Given the description of an element on the screen output the (x, y) to click on. 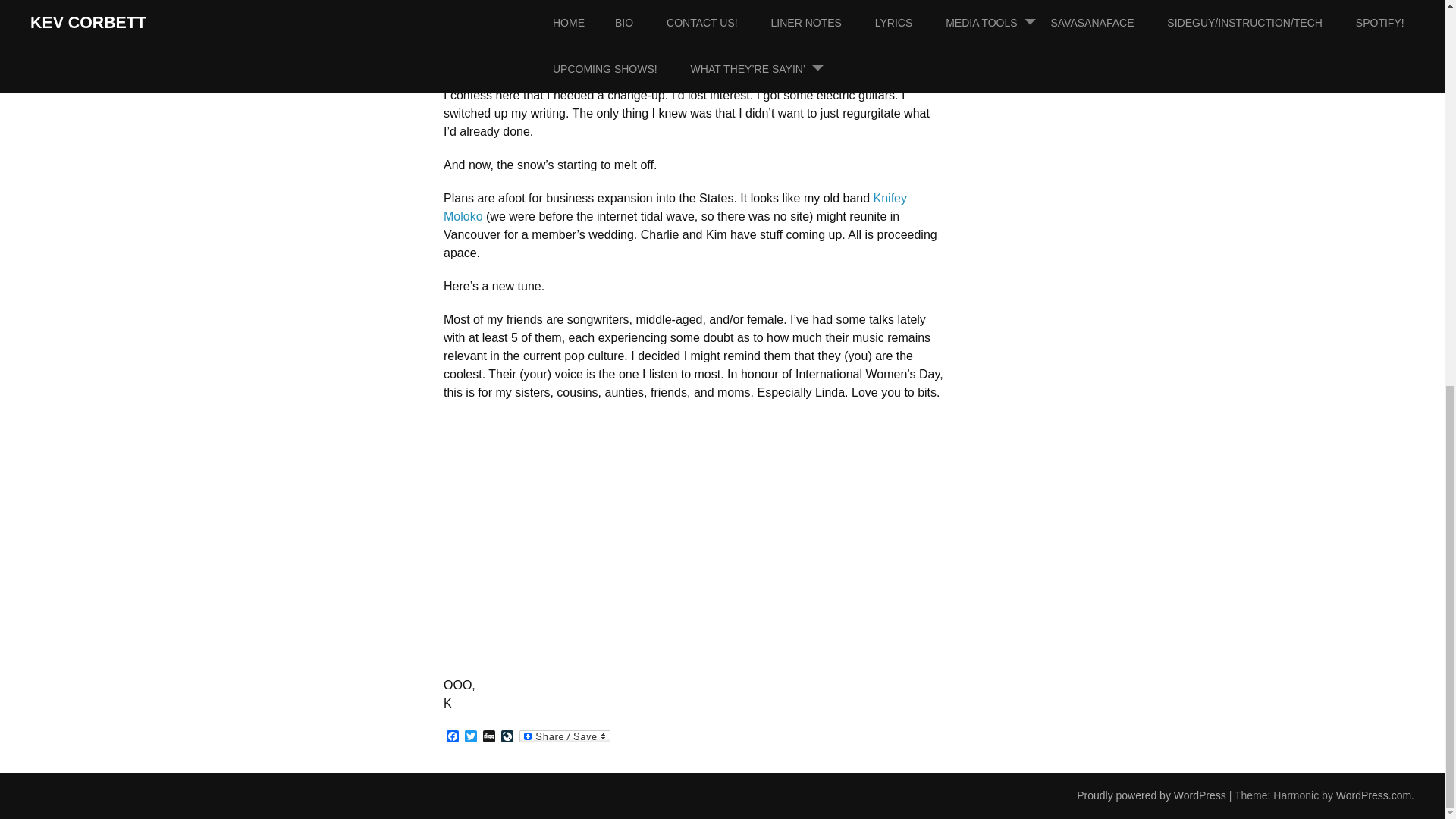
Knifey Moloko (675, 206)
Digg (488, 737)
Facebook (452, 737)
North American Folk Alliance (674, 10)
LiveJournal (506, 737)
Twitter (470, 737)
